Given the description of an element on the screen output the (x, y) to click on. 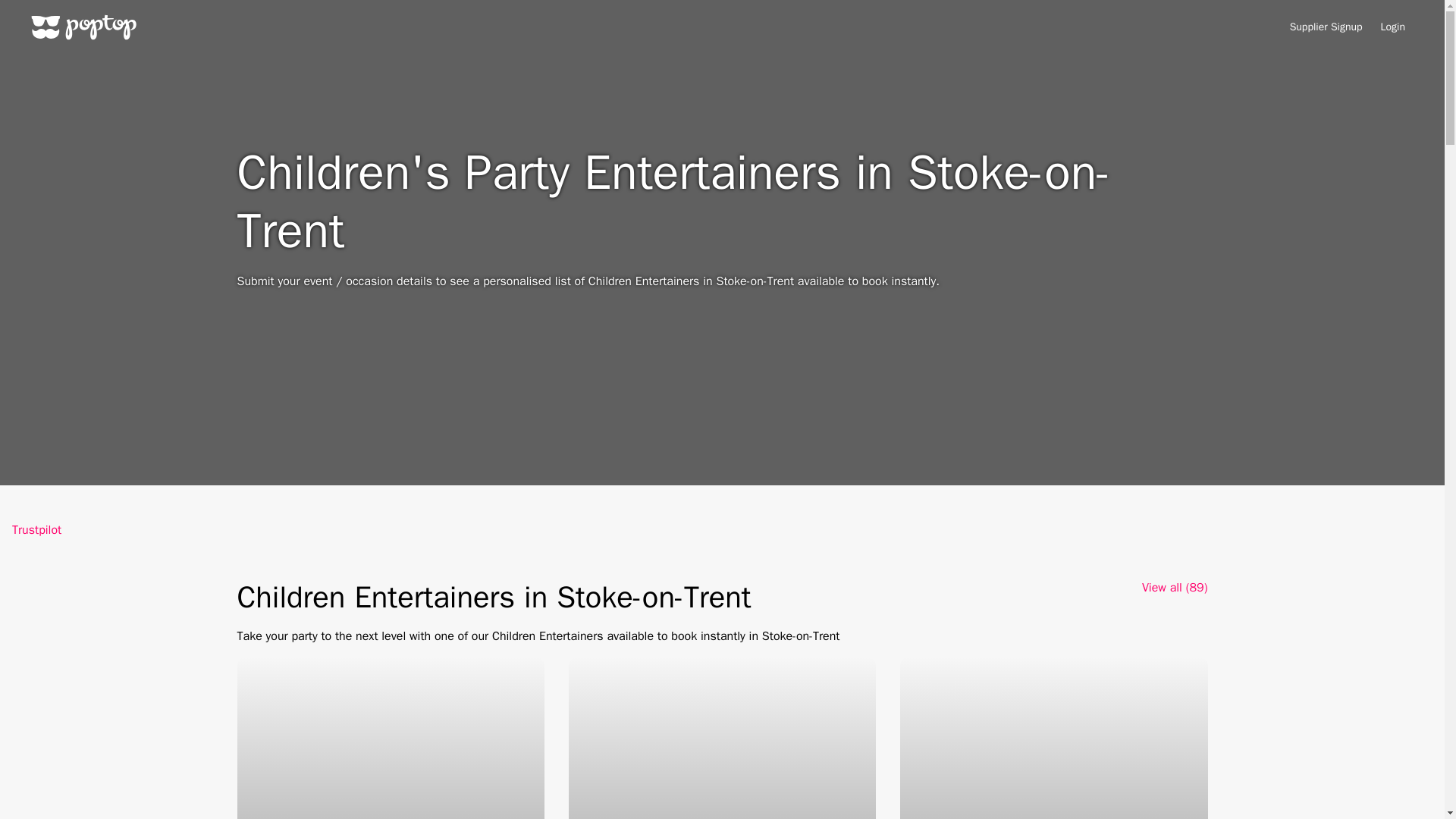
Trustpilot (36, 529)
Login (1392, 26)
Supplier Signup (1326, 26)
